Given the description of an element on the screen output the (x, y) to click on. 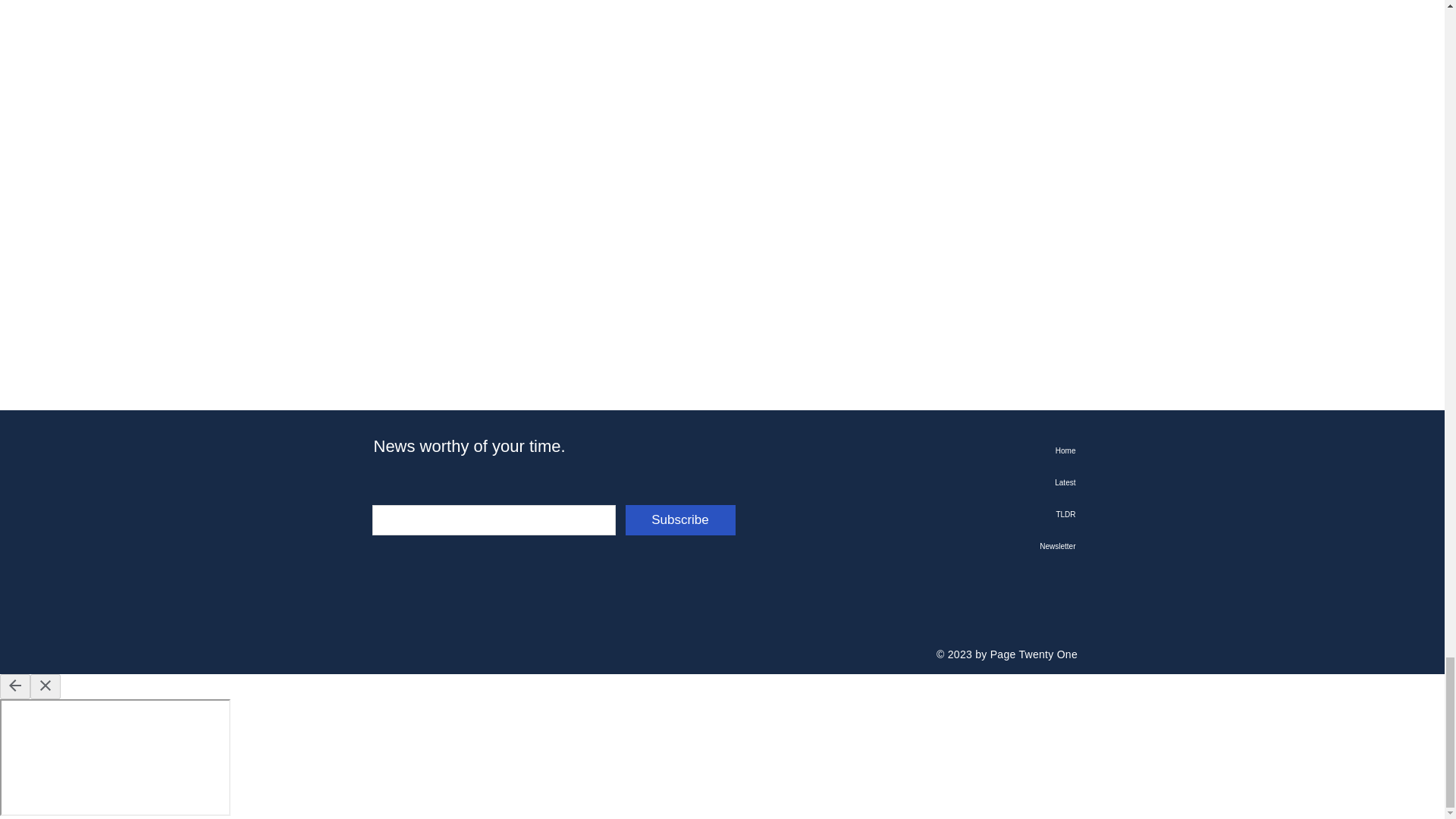
Subscribe (679, 520)
